Given the description of an element on the screen output the (x, y) to click on. 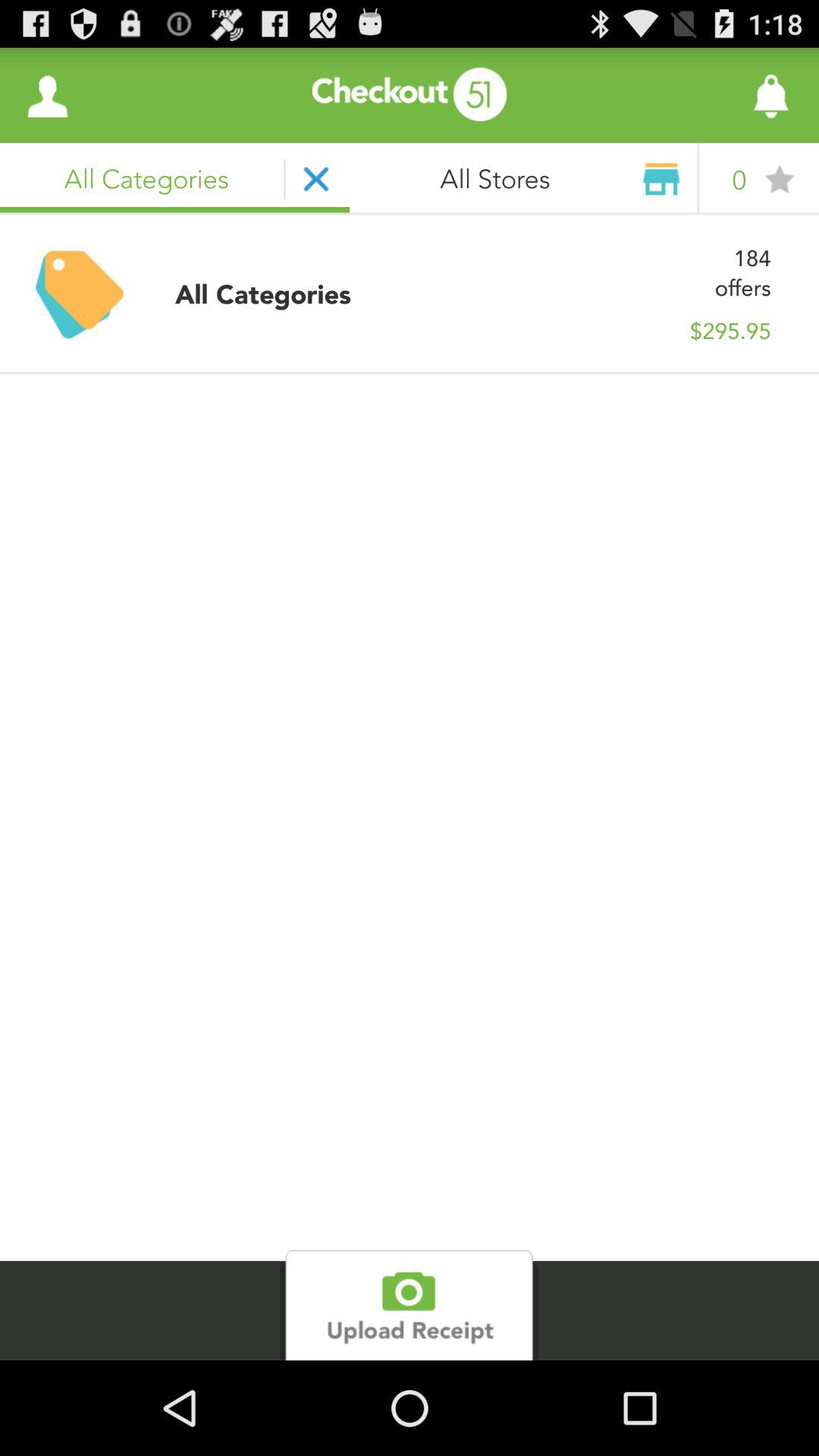
press the icon to the right of all stores item (729, 95)
